Given the description of an element on the screen output the (x, y) to click on. 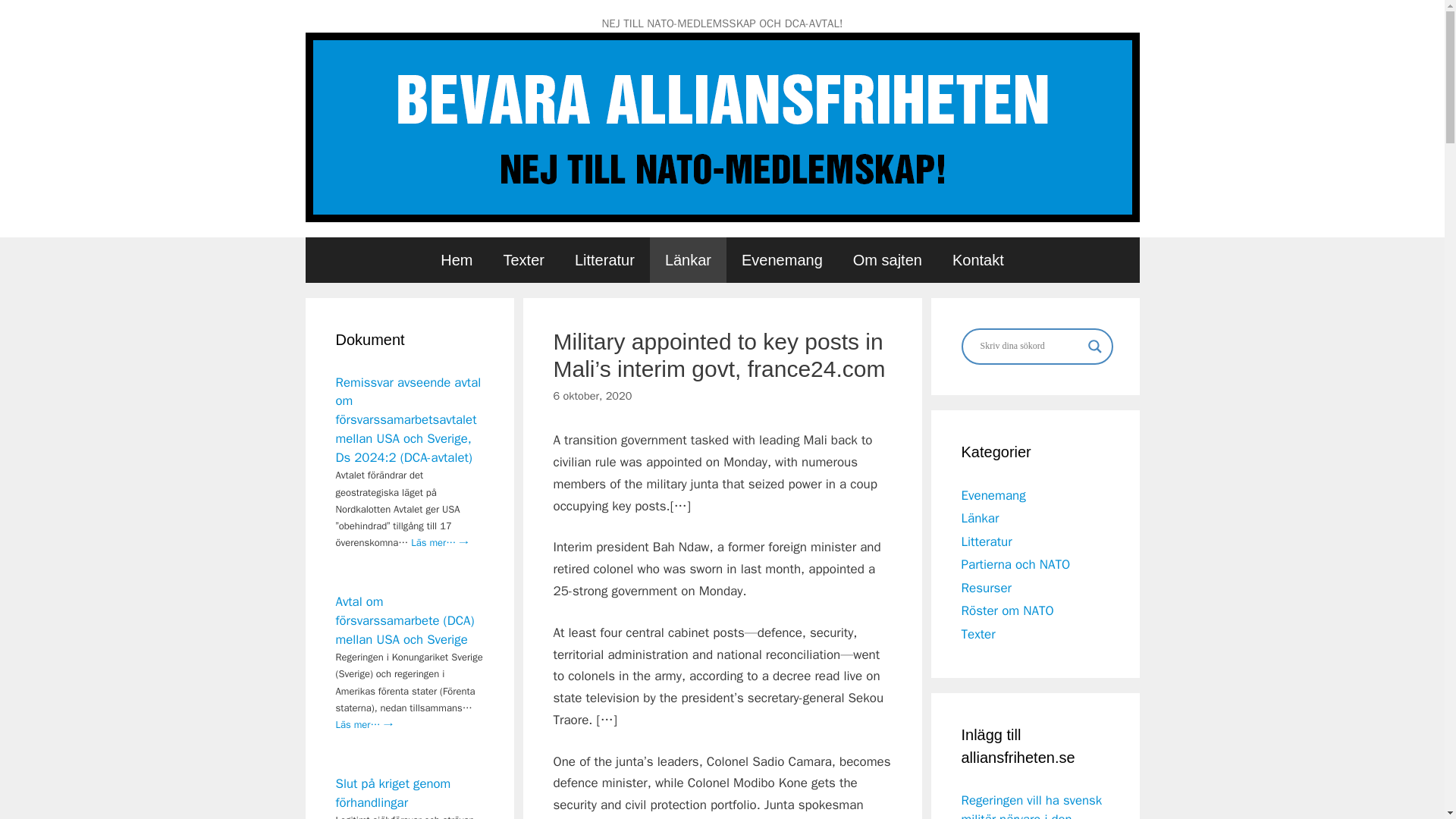
Litteratur (985, 541)
Texter (523, 258)
Kontakt (978, 258)
Evenemang (782, 258)
Litteratur (604, 258)
Hem (456, 258)
Evenemang (993, 494)
Om sajten (887, 258)
BEVARA ALLIANSFRIHETEN (721, 125)
